Given the description of an element on the screen output the (x, y) to click on. 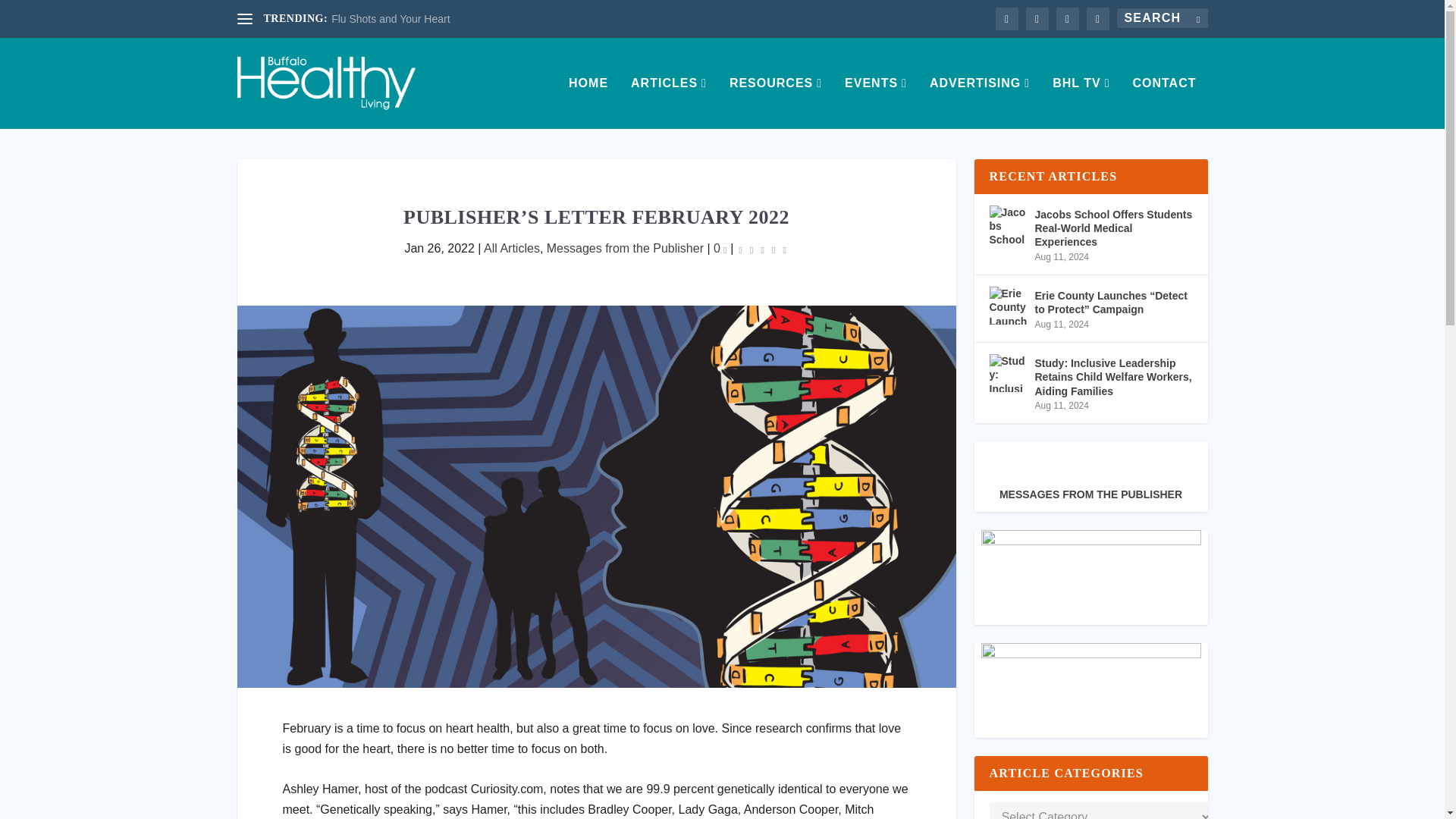
ARTICLES (668, 102)
Rating: 0.00 (762, 249)
ADVERTISING (979, 102)
Flu Shots and Your Heart (390, 19)
Search for: (1161, 17)
RESOURCES (775, 102)
EVENTS (875, 102)
